Given the description of an element on the screen output the (x, y) to click on. 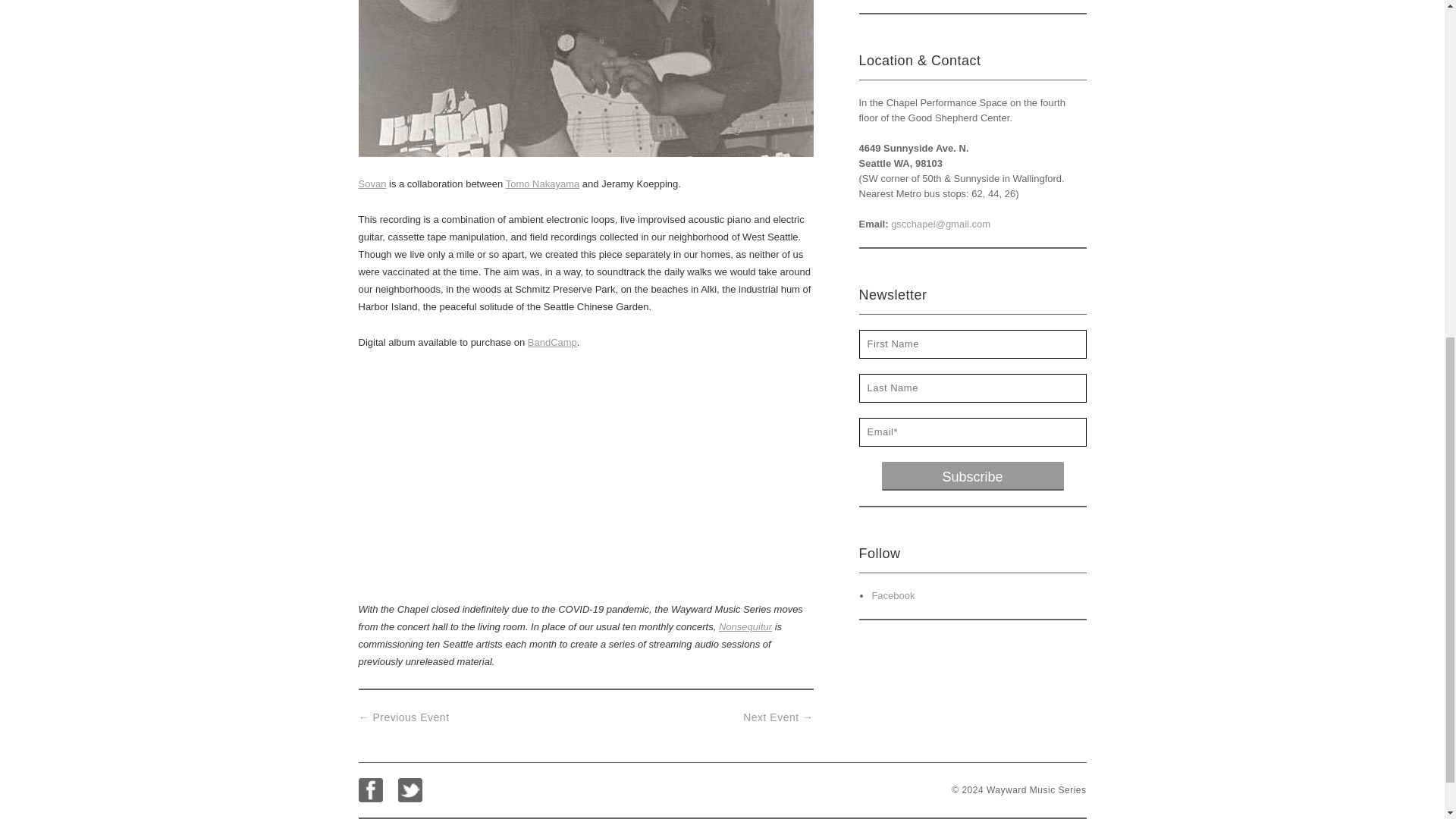
Sovan (371, 183)
Tomo Nakayama (542, 183)
Twitter (409, 790)
Subscribe (971, 475)
BandCamp (551, 342)
Twitter (409, 790)
Nonsequitur (745, 626)
Facebook (892, 595)
Facebook (369, 790)
Facebook (369, 790)
Subscribe (971, 475)
